Given the description of an element on the screen output the (x, y) to click on. 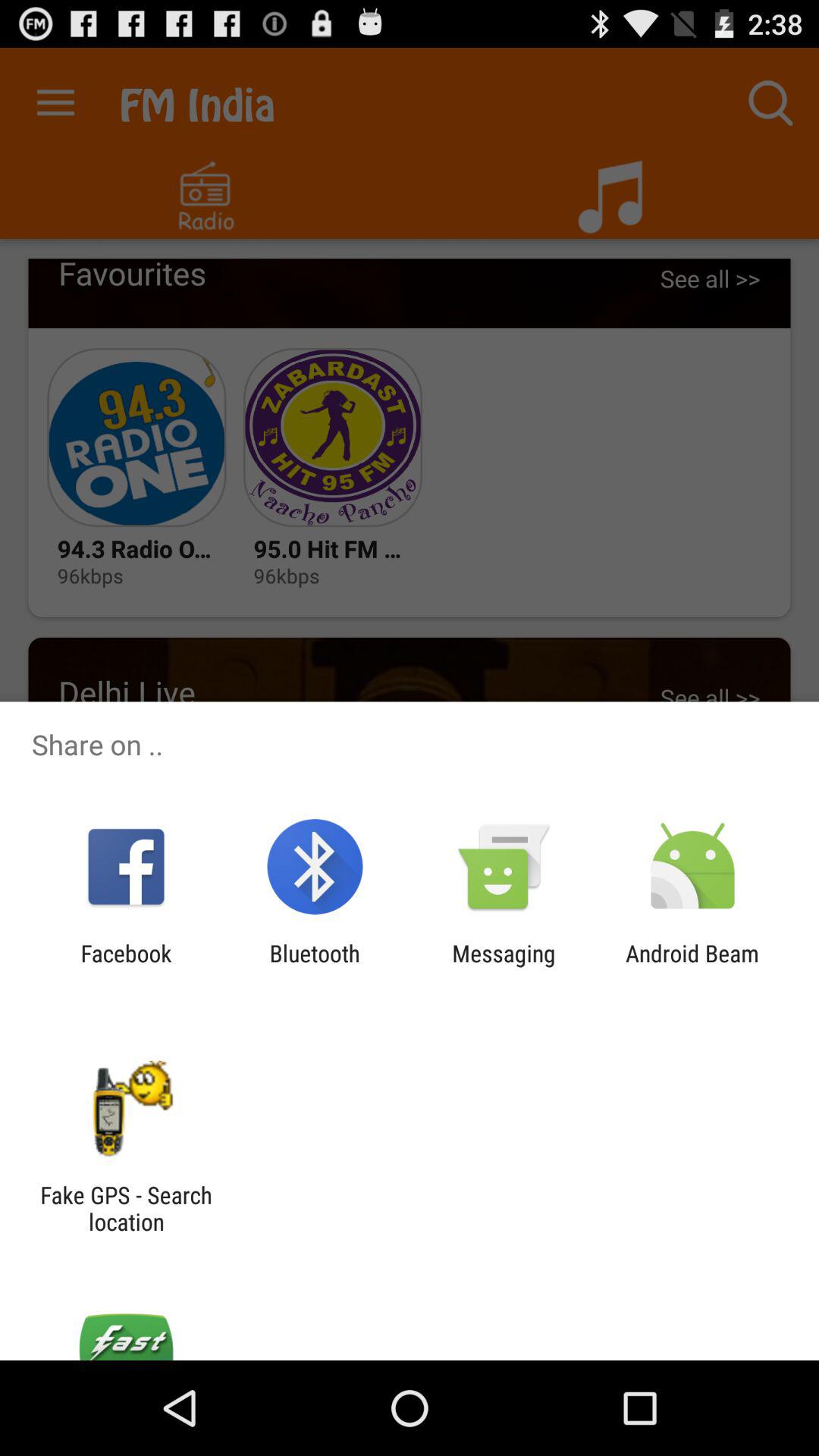
jump until fake gps search item (125, 1208)
